Given the description of an element on the screen output the (x, y) to click on. 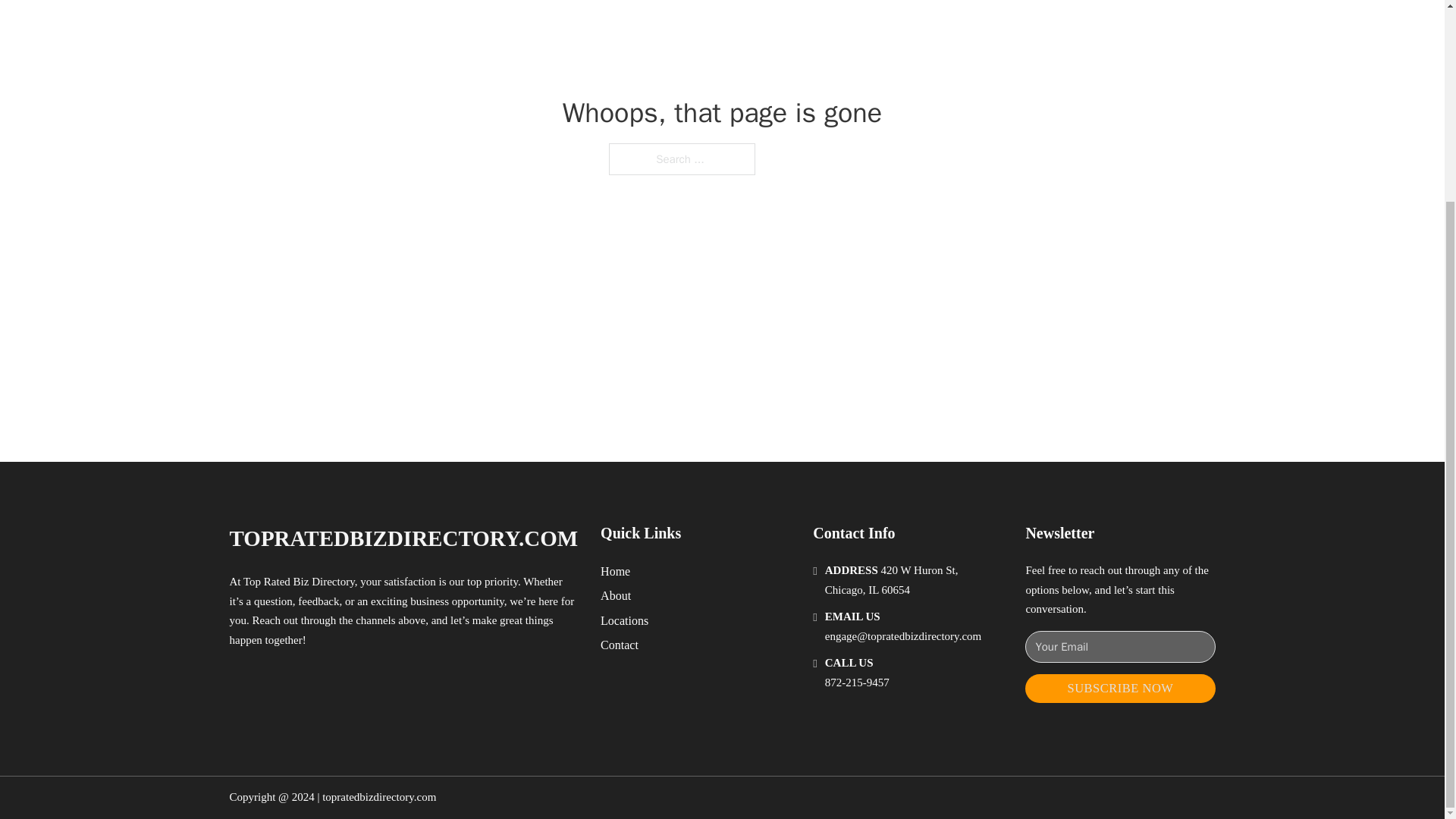
TOPRATEDBIZDIRECTORY.COM (403, 538)
About (614, 595)
872-215-9457 (857, 682)
SUBSCRIBE NOW (1119, 688)
Home (614, 571)
Contact (619, 644)
Locations (623, 620)
